Given the description of an element on the screen output the (x, y) to click on. 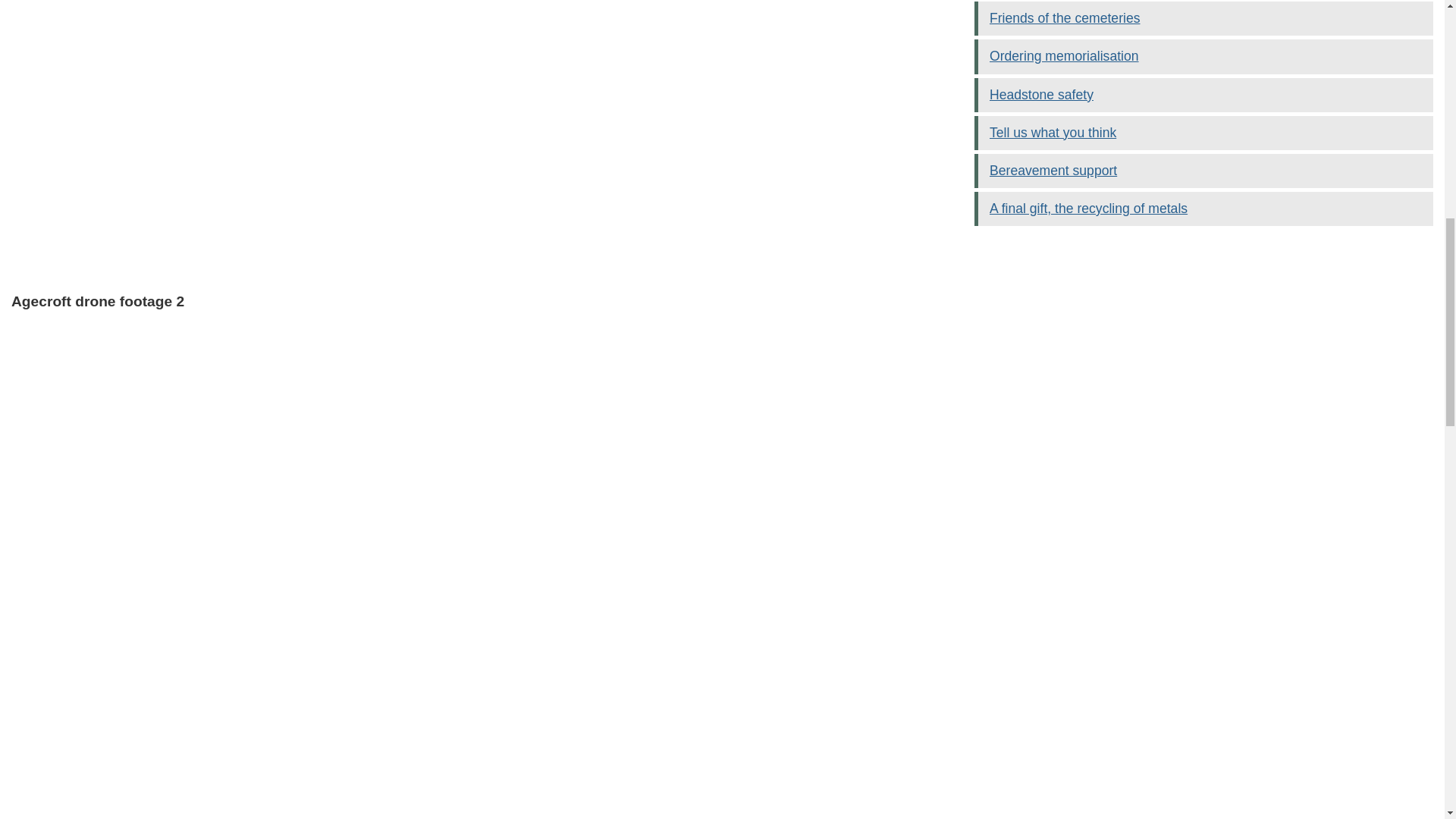
Tell us what you think (1053, 132)
A final gift, the recycling of metals (1089, 208)
Bereavement support (1053, 170)
Ordering memorialisation (1064, 55)
Headstone safety (1041, 94)
Friends of the cemeteries (1065, 17)
